Given the description of an element on the screen output the (x, y) to click on. 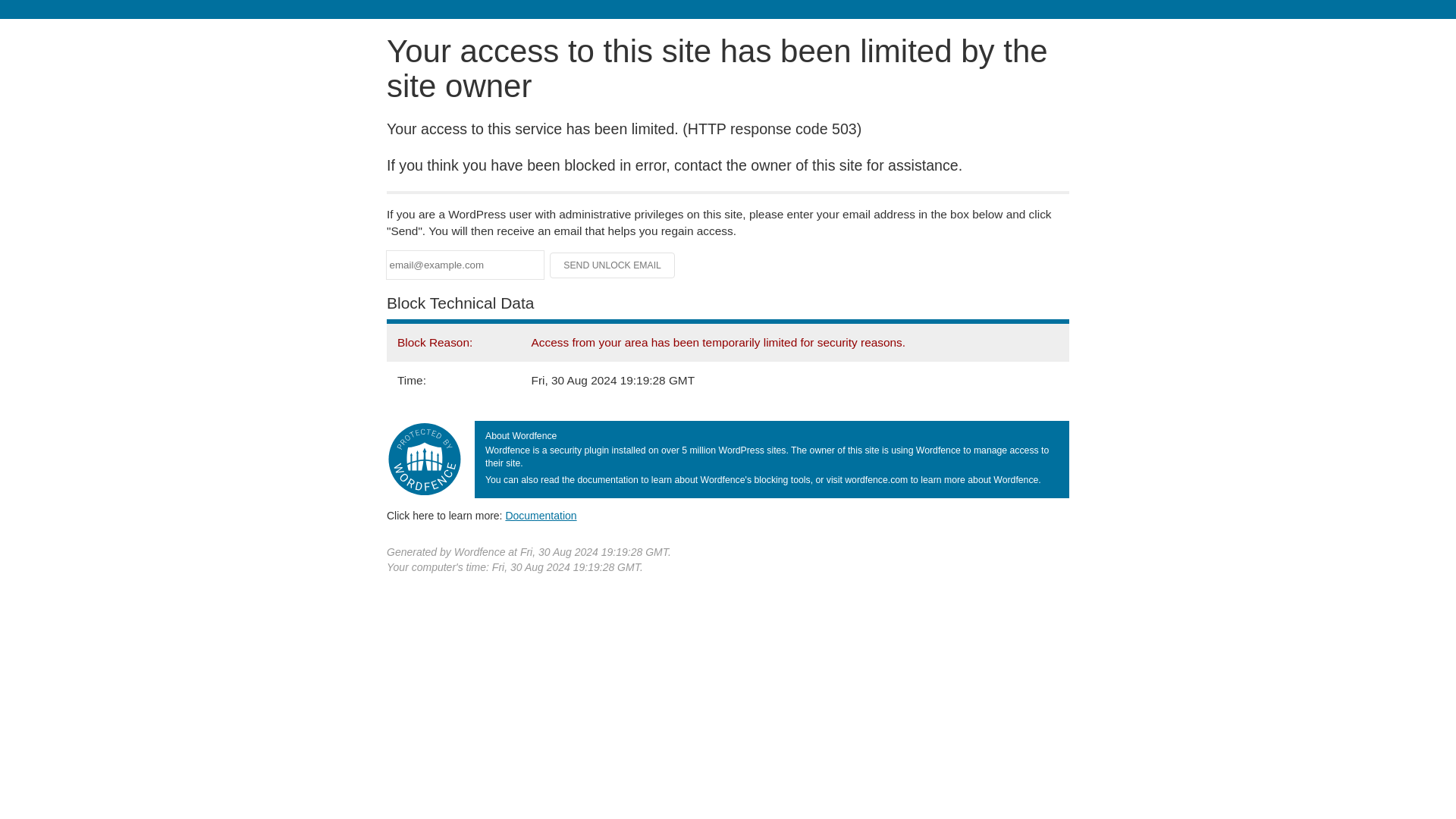
Send Unlock Email (612, 265)
Send Unlock Email (612, 265)
Documentation (540, 515)
